Given the description of an element on the screen output the (x, y) to click on. 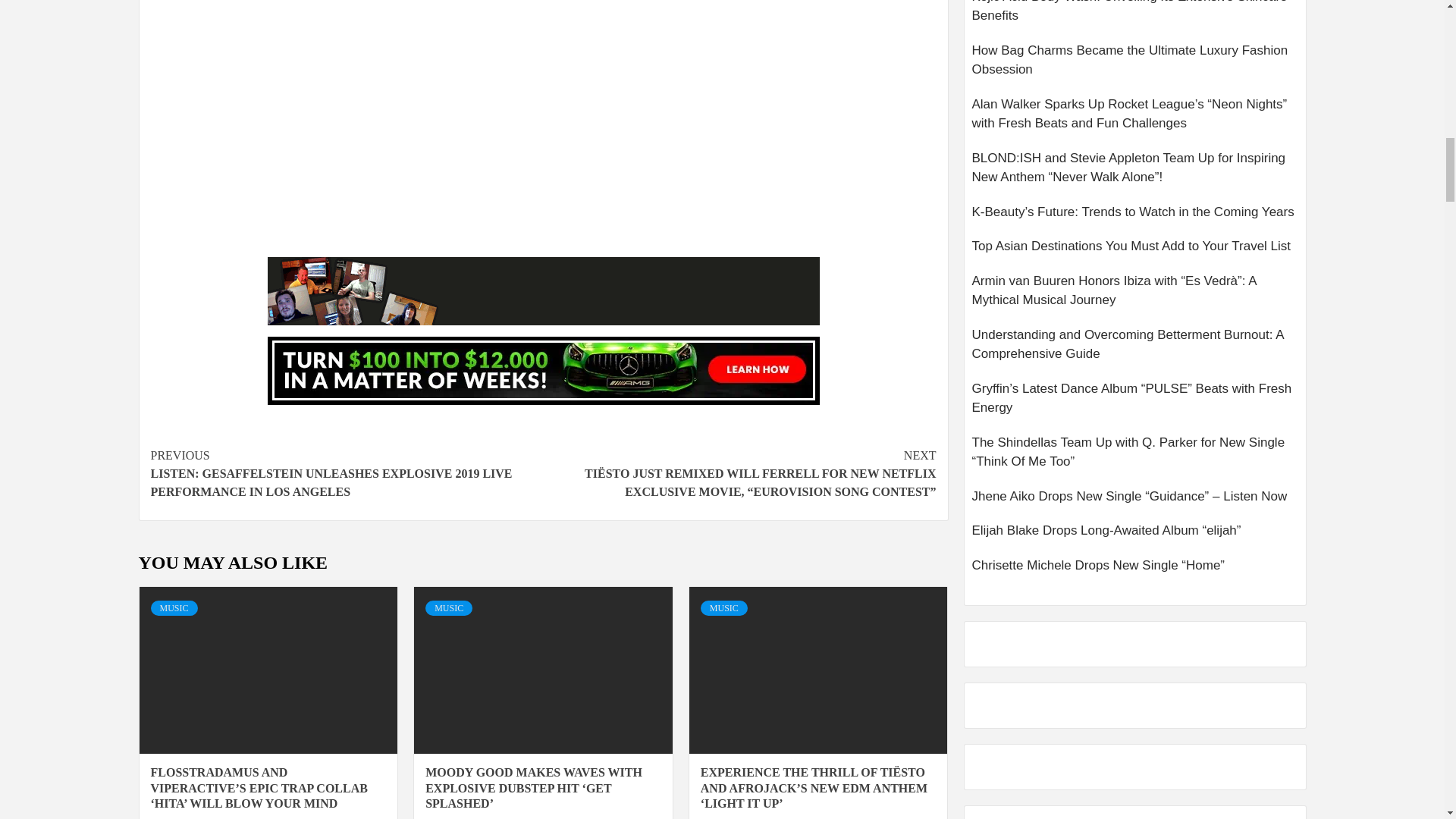
MUSIC (448, 607)
MUSIC (172, 607)
